Given the description of an element on the screen output the (x, y) to click on. 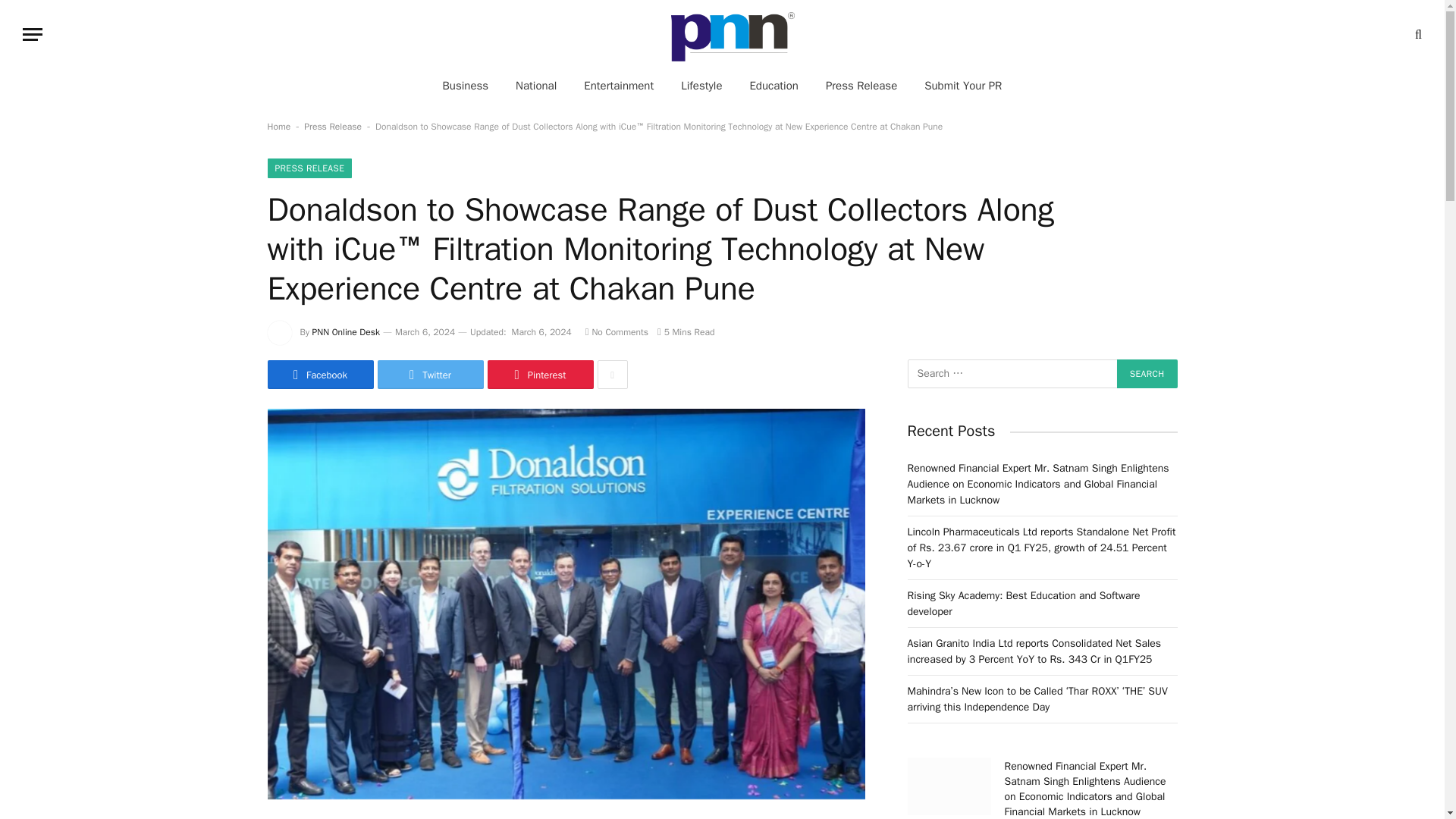
Education (772, 85)
Entertainment (618, 85)
Twitter (430, 374)
PRESS RELEASE (309, 168)
Show More Social Sharing (611, 374)
Share on Pinterest (539, 374)
PNN Online Desk (346, 331)
Search (1146, 373)
Posts by PNN Online Desk (346, 331)
Home (277, 126)
